Given the description of an element on the screen output the (x, y) to click on. 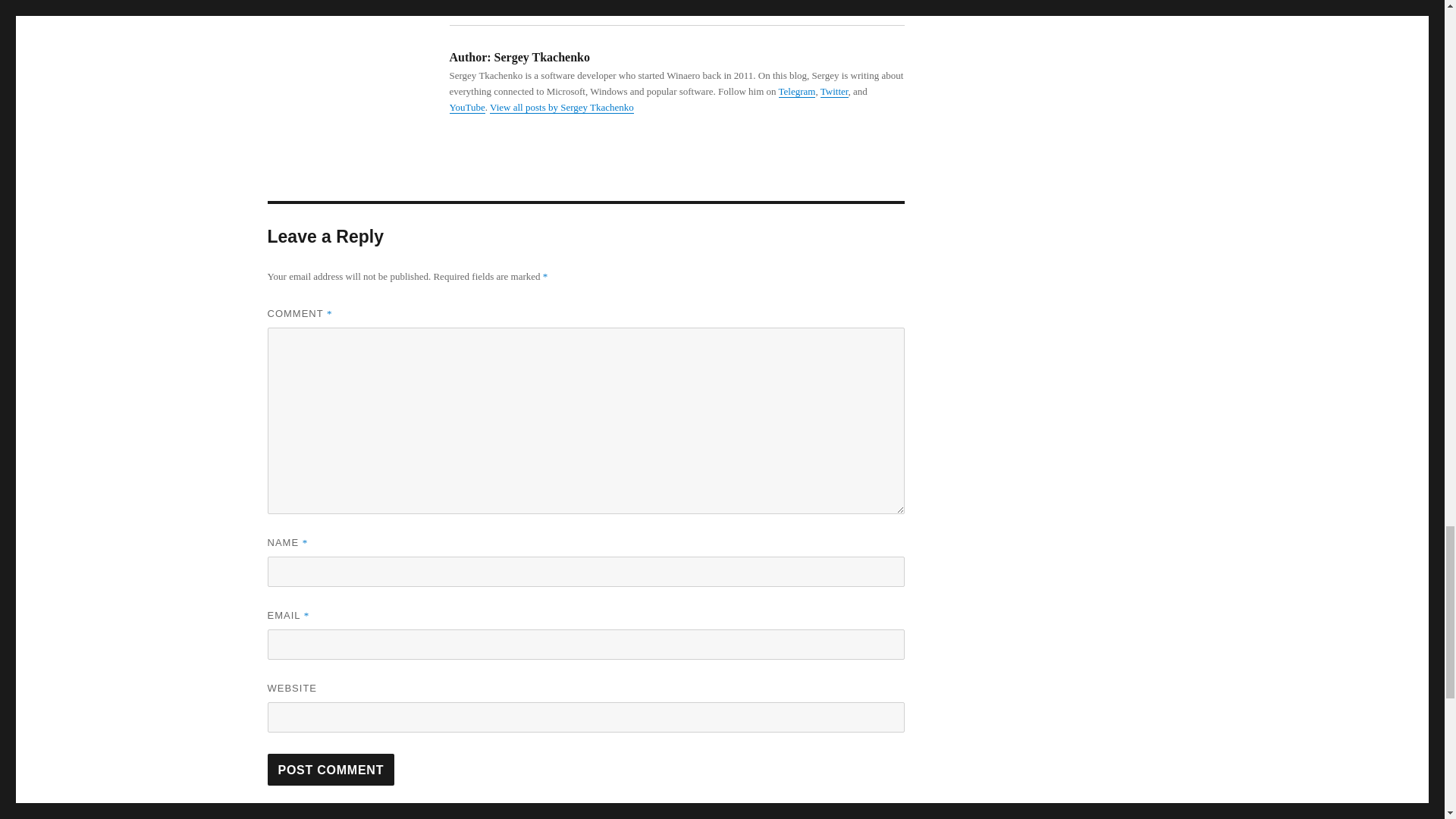
View all posts by Sergey Tkachenko (561, 107)
YouTube (466, 107)
Post Comment (330, 769)
Post Comment (330, 769)
Telegram (796, 91)
Twitter (834, 91)
